Given the description of an element on the screen output the (x, y) to click on. 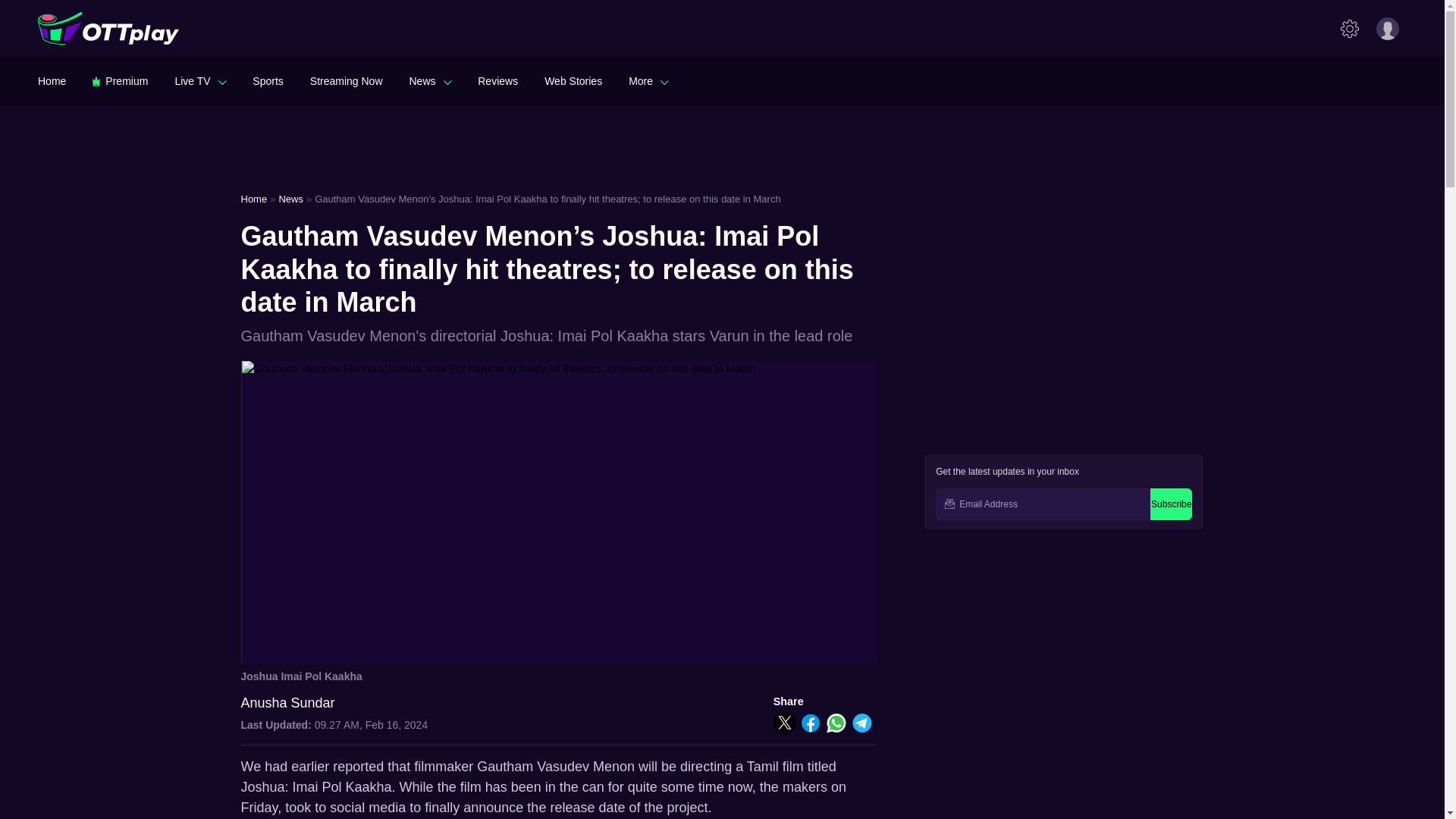
News (430, 80)
Streaming Now (346, 80)
Premium (120, 80)
Live TV (199, 80)
Web Stories (573, 80)
